Given the description of an element on the screen output the (x, y) to click on. 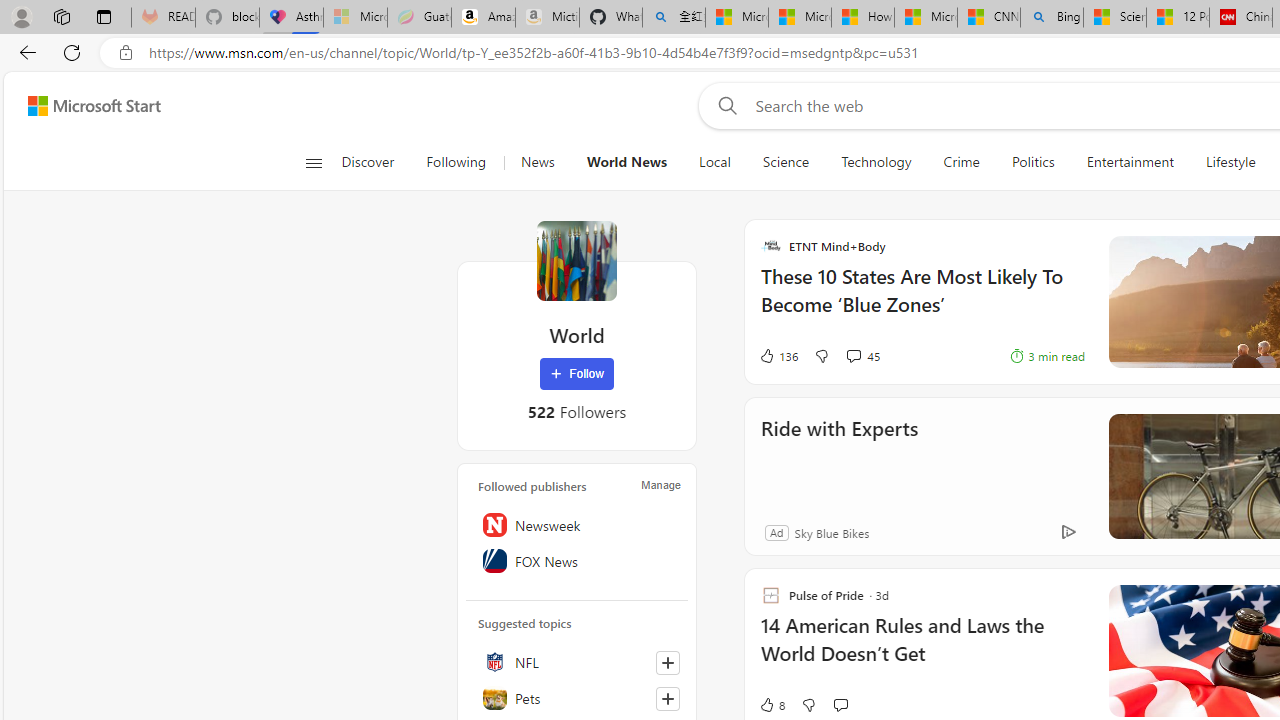
Asthma Inhalers: Names and Types (290, 17)
Manage (660, 484)
How I Got Rid of Microsoft Edge's Unnecessary Features (862, 17)
Follow this topic (667, 698)
CNN - MSN (988, 17)
